Given the description of an element on the screen output the (x, y) to click on. 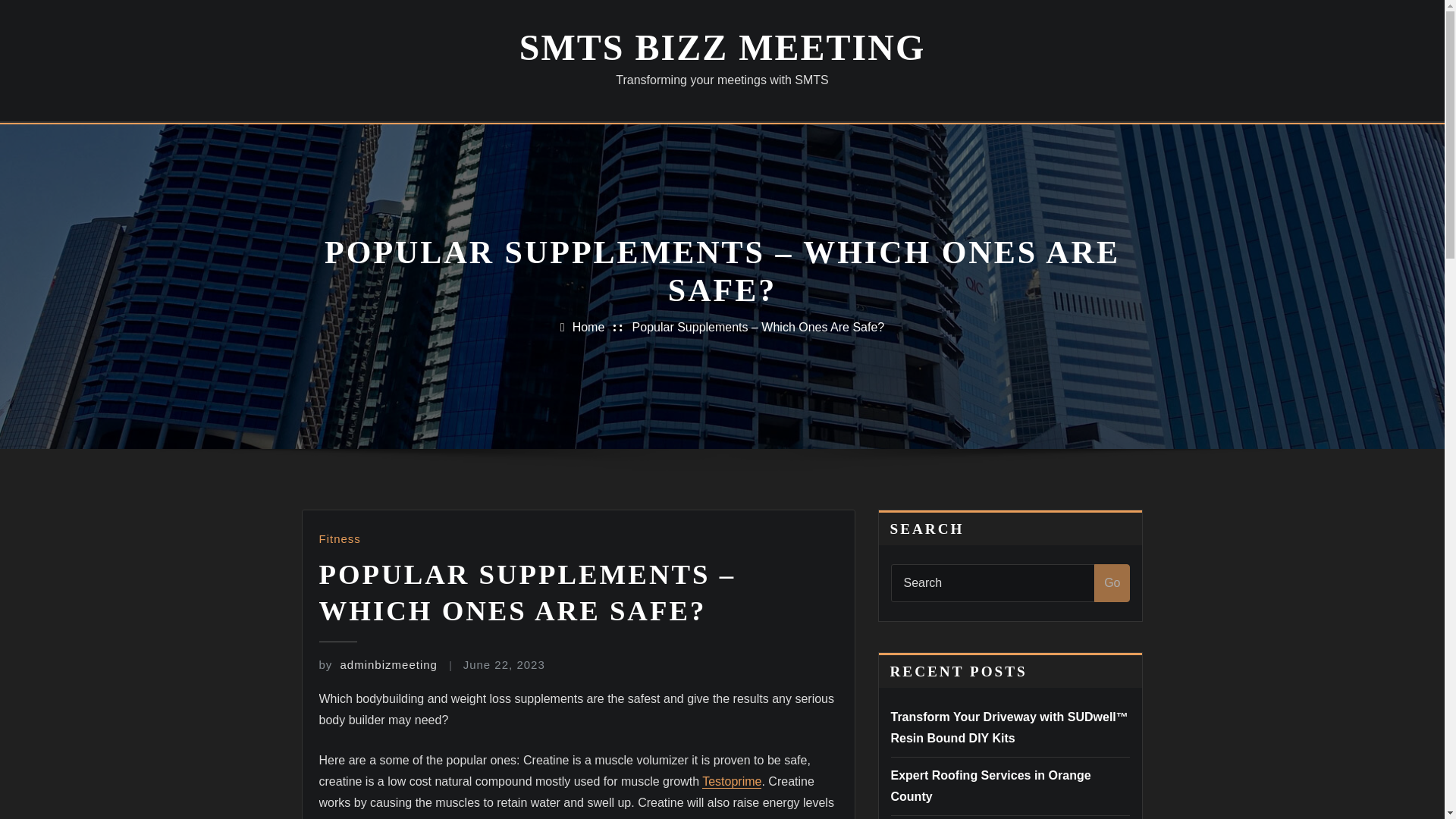
Home (588, 327)
June 22, 2023 (503, 664)
by adminbizmeeting (377, 664)
SMTS BIZZ MEETING (721, 47)
Expert Roofing Services in Orange County (989, 786)
Fitness (338, 538)
Go (1111, 582)
Testoprime (731, 780)
